Given the description of an element on the screen output the (x, y) to click on. 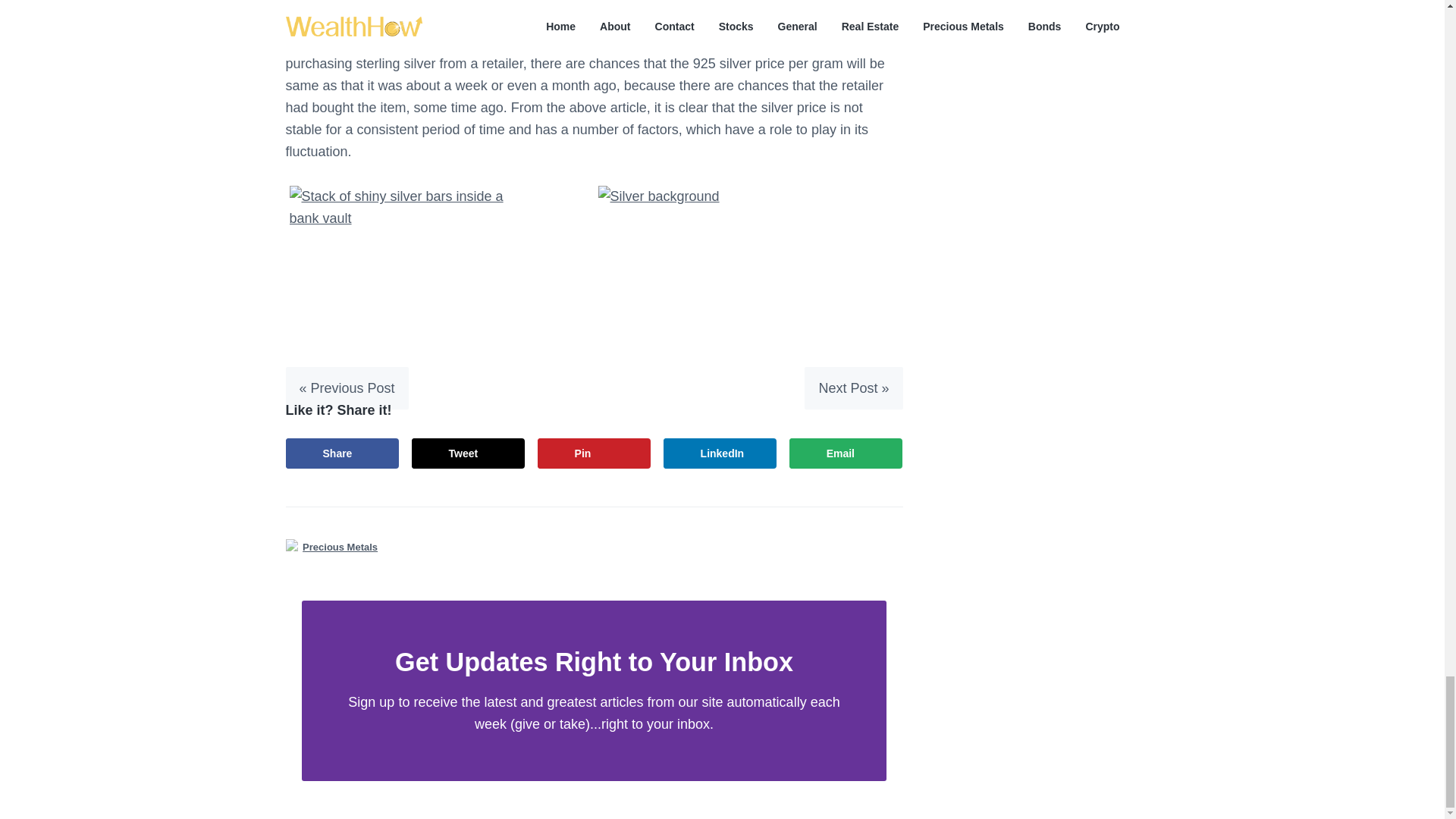
Email (845, 453)
LinkedIn (720, 453)
Precious Metals (339, 546)
Share (341, 453)
Share on X (468, 453)
Save to Pinterest (593, 453)
Pin (593, 453)
silver dollar coin value (532, 41)
Send over email (845, 453)
Share on LinkedIn (720, 453)
